Given the description of an element on the screen output the (x, y) to click on. 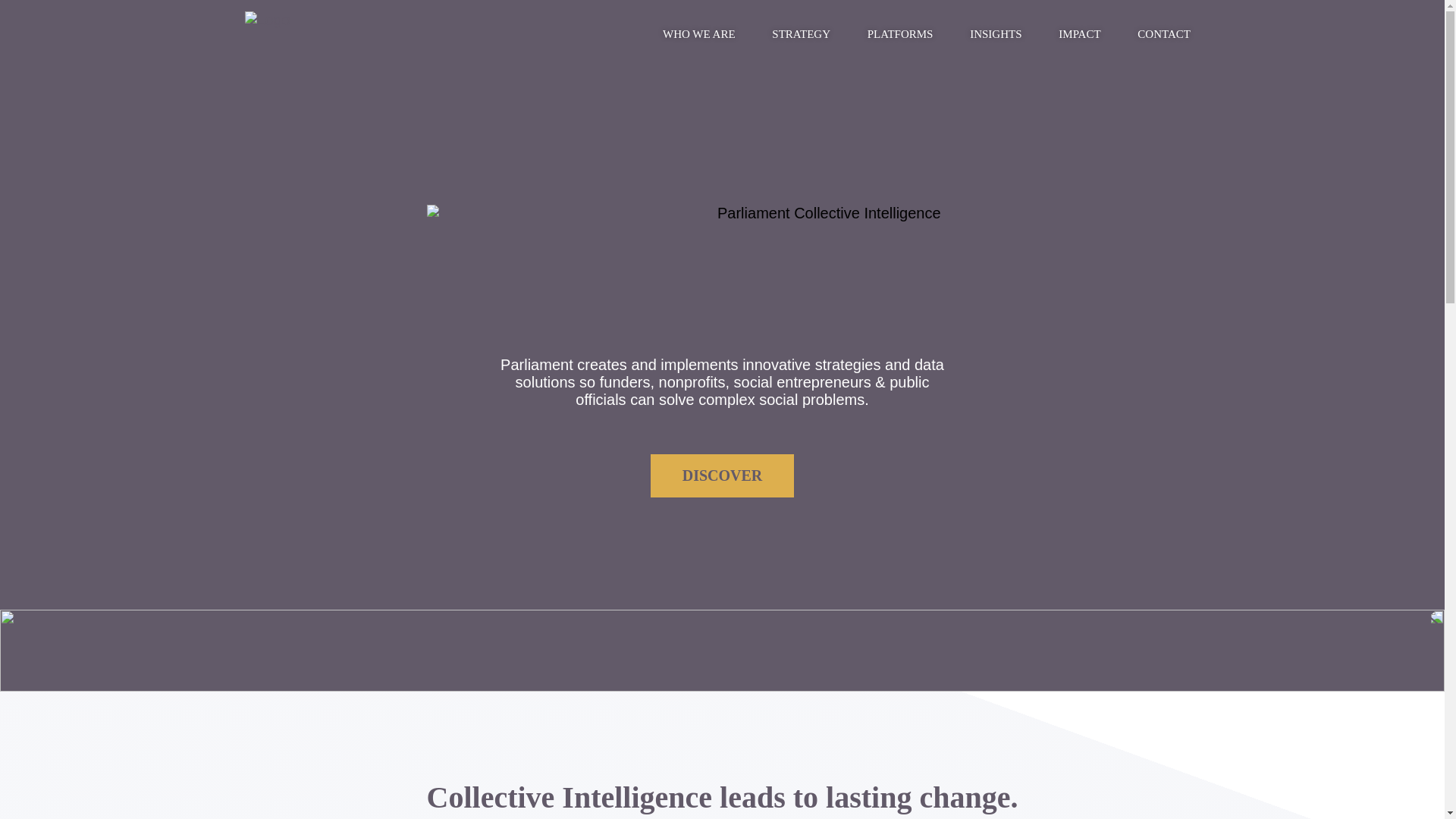
DISCOVER (722, 475)
IMPACT (1080, 33)
CONTACT (1164, 33)
PLATFORMS (900, 33)
INSIGHTS (996, 33)
STRATEGY (801, 33)
WHO WE ARE (699, 33)
